Given the description of an element on the screen output the (x, y) to click on. 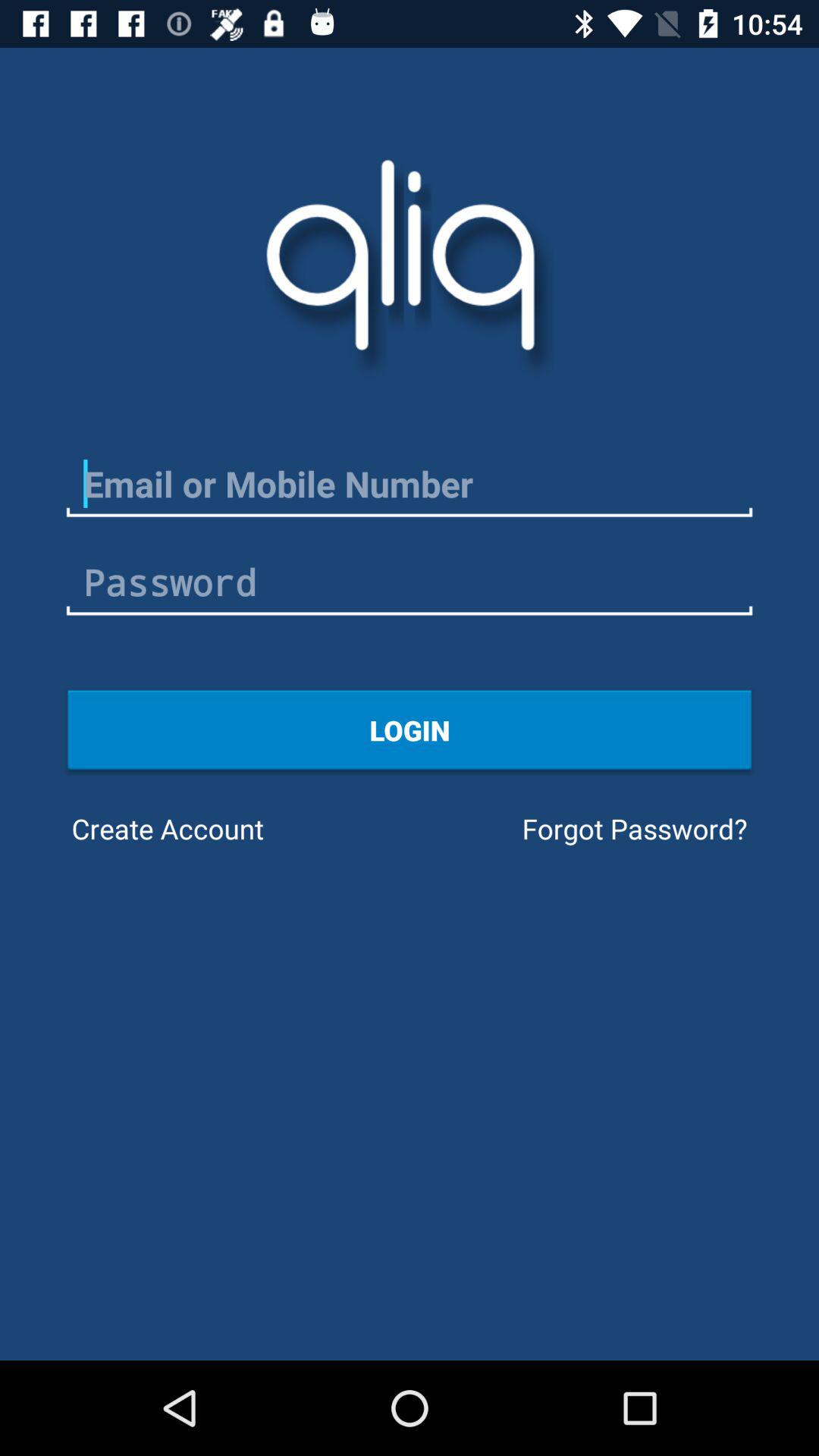
enter email (409, 484)
